Given the description of an element on the screen output the (x, y) to click on. 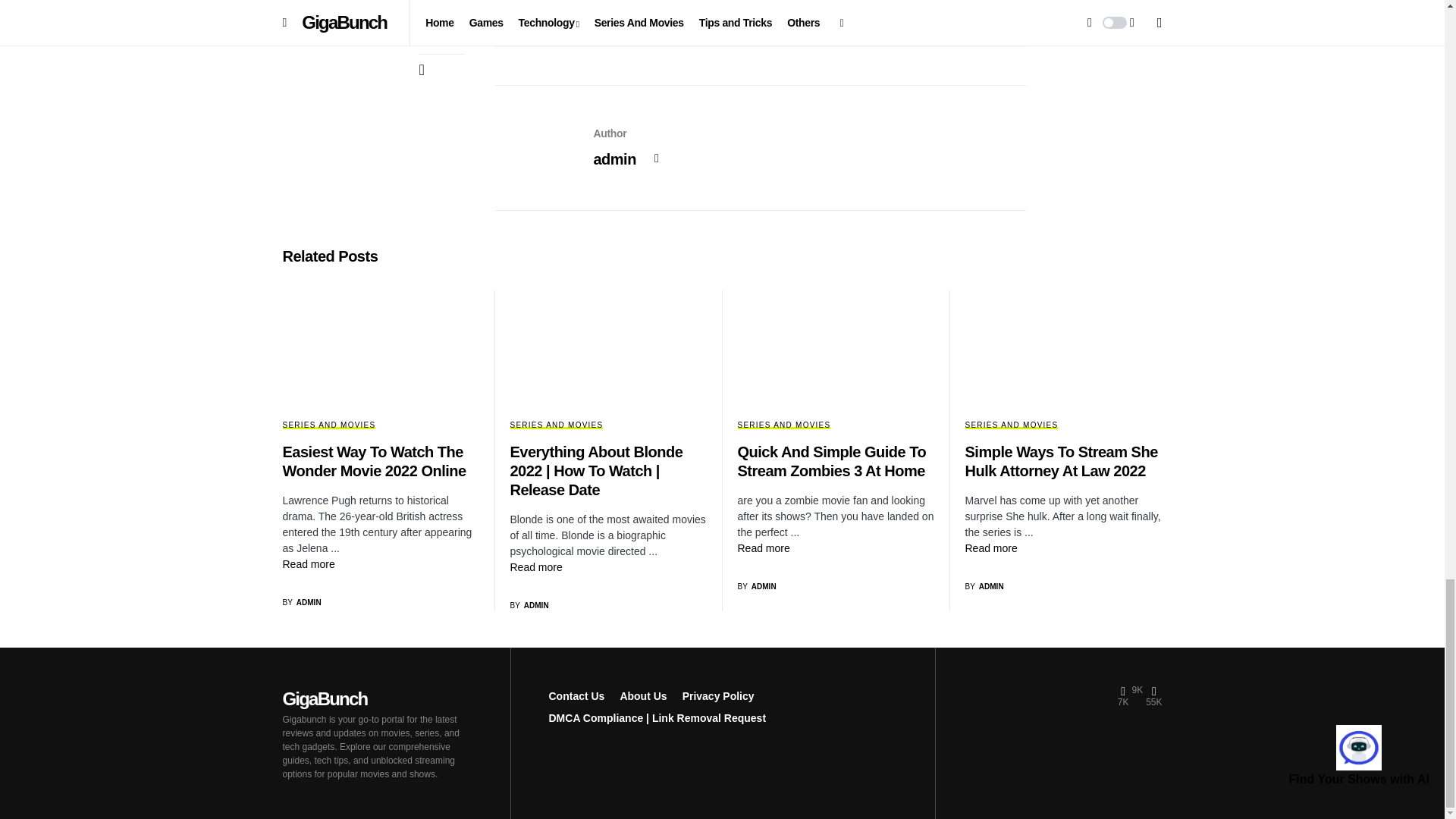
View all posts by admin (528, 604)
View all posts by admin (301, 602)
View all posts by admin (756, 586)
Simple Ways To Stream She Hulk Attorney At Law 2022 (989, 548)
Easiest Way To Watch The Wonder Movie 2022 Online (308, 563)
View all posts by admin (983, 586)
Quick And Simple Guide To Stream Zombies 3 At Home (762, 548)
